Given the description of an element on the screen output the (x, y) to click on. 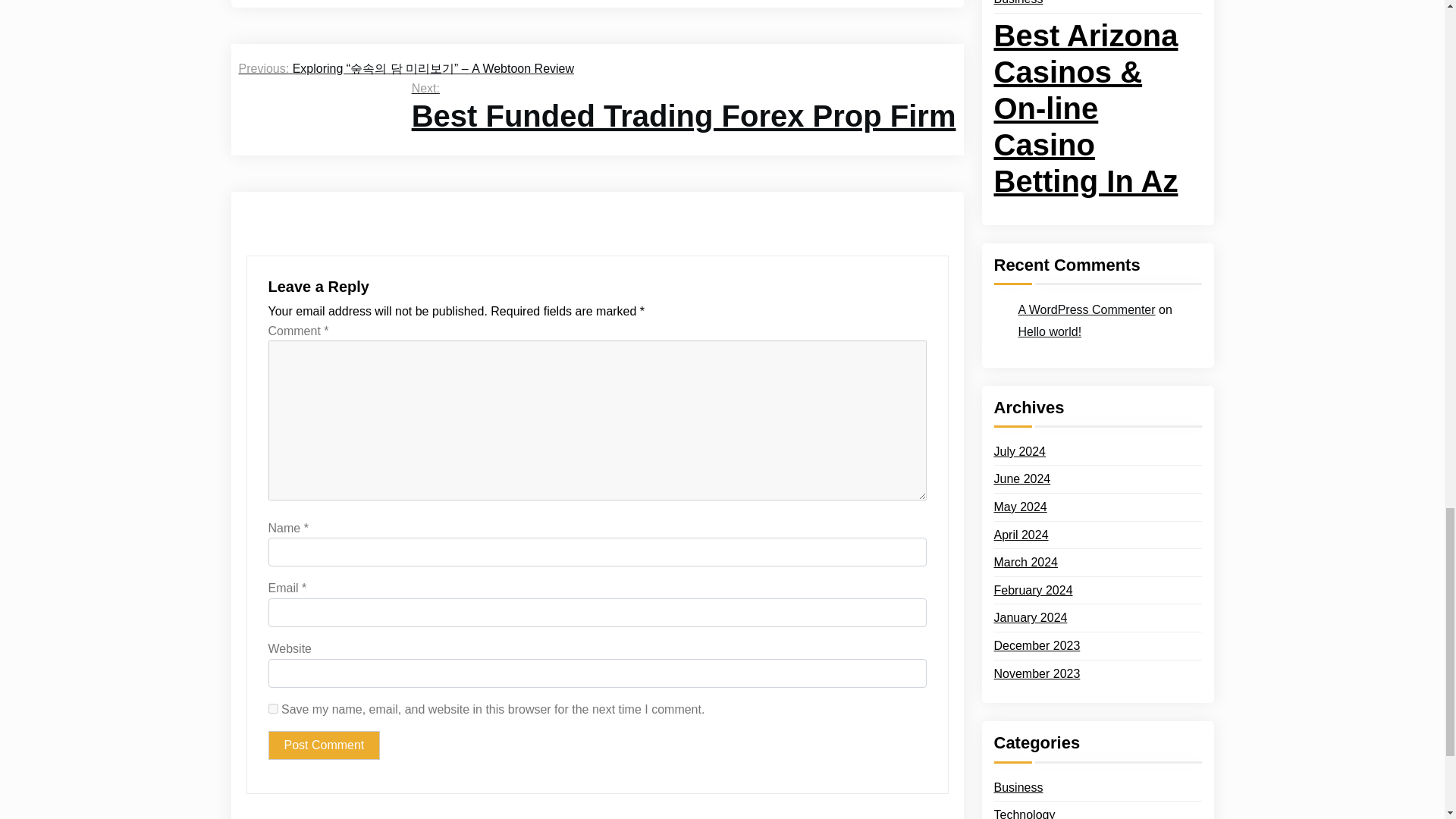
Post Comment (323, 745)
yes (272, 708)
Post Comment (323, 745)
